Given the description of an element on the screen output the (x, y) to click on. 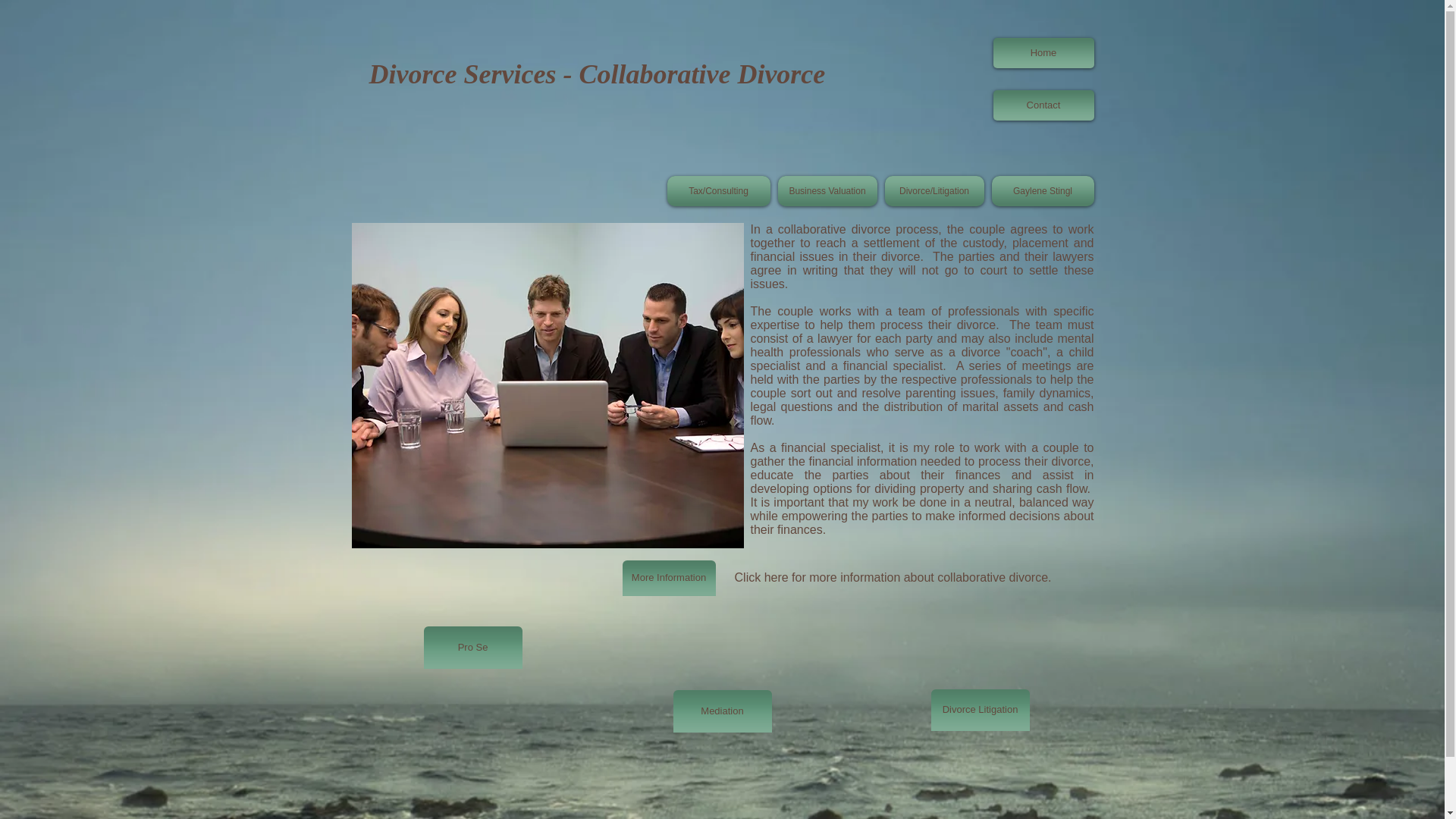
Business Valuation (826, 191)
Contact (1043, 105)
More Information (667, 578)
Gaylene Stingl (1040, 191)
Pro Se (472, 647)
Divorce Litigation (980, 710)
Home (1043, 52)
Mediation (721, 711)
